Given the description of an element on the screen output the (x, y) to click on. 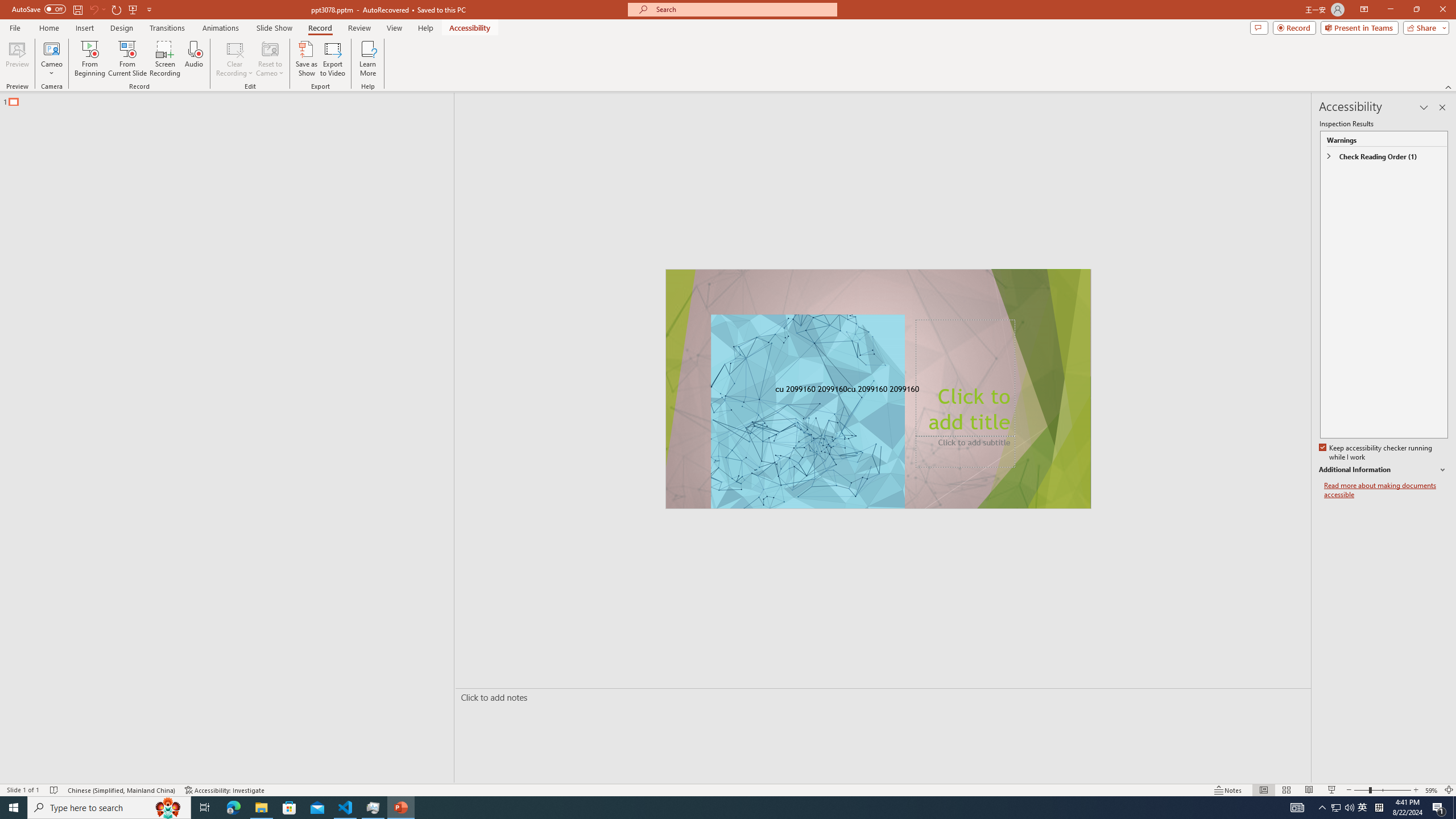
2301.12597v3.pdf (1405, 178)
2404.05719v1.pdf (1405, 254)
auto.py (163, 708)
2403.02502v1.pdf (1340, 102)
